Given the description of an element on the screen output the (x, y) to click on. 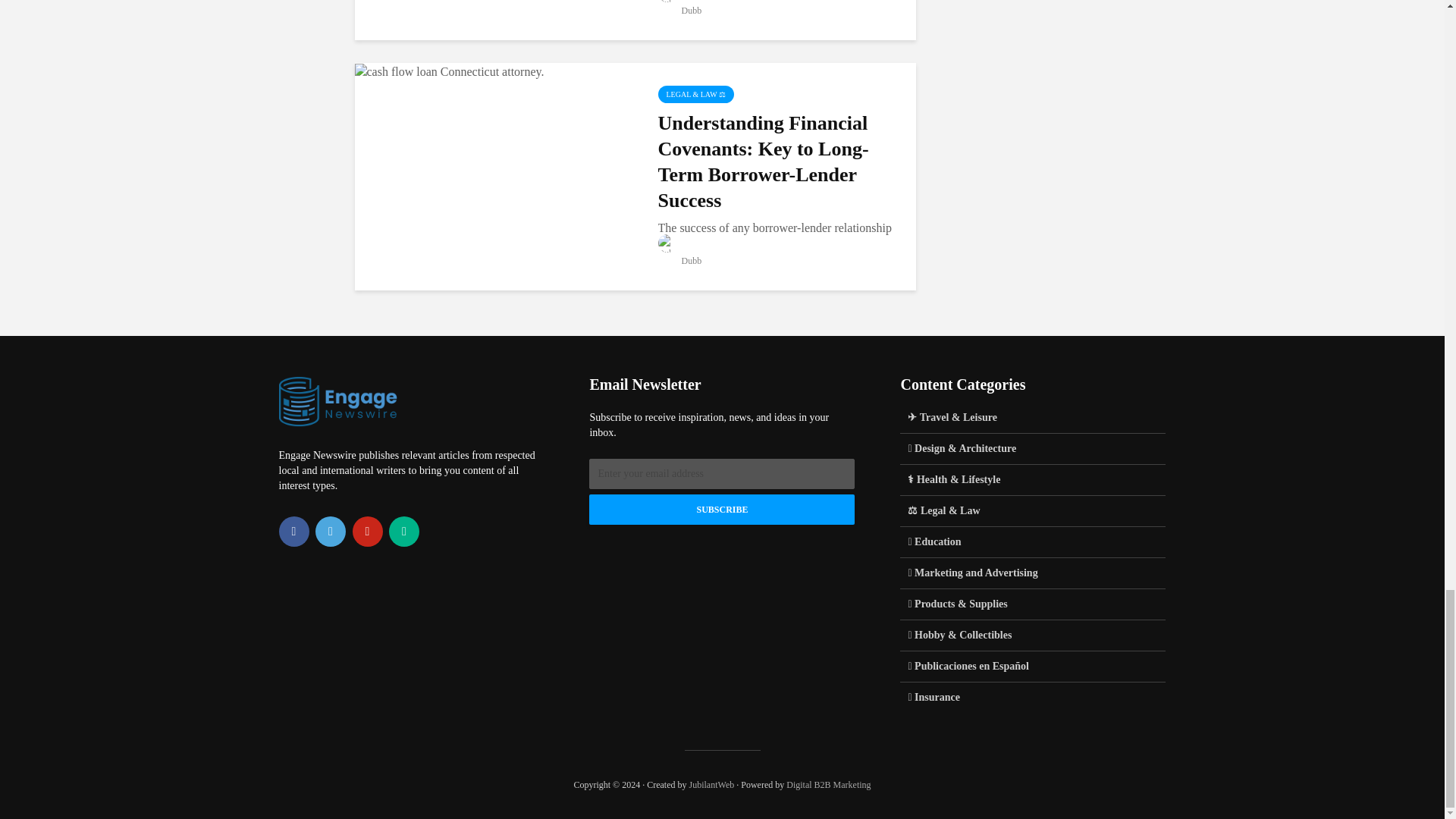
Facebook (293, 531)
Subscribe (721, 509)
Subscribe (721, 509)
